Given the description of an element on the screen output the (x, y) to click on. 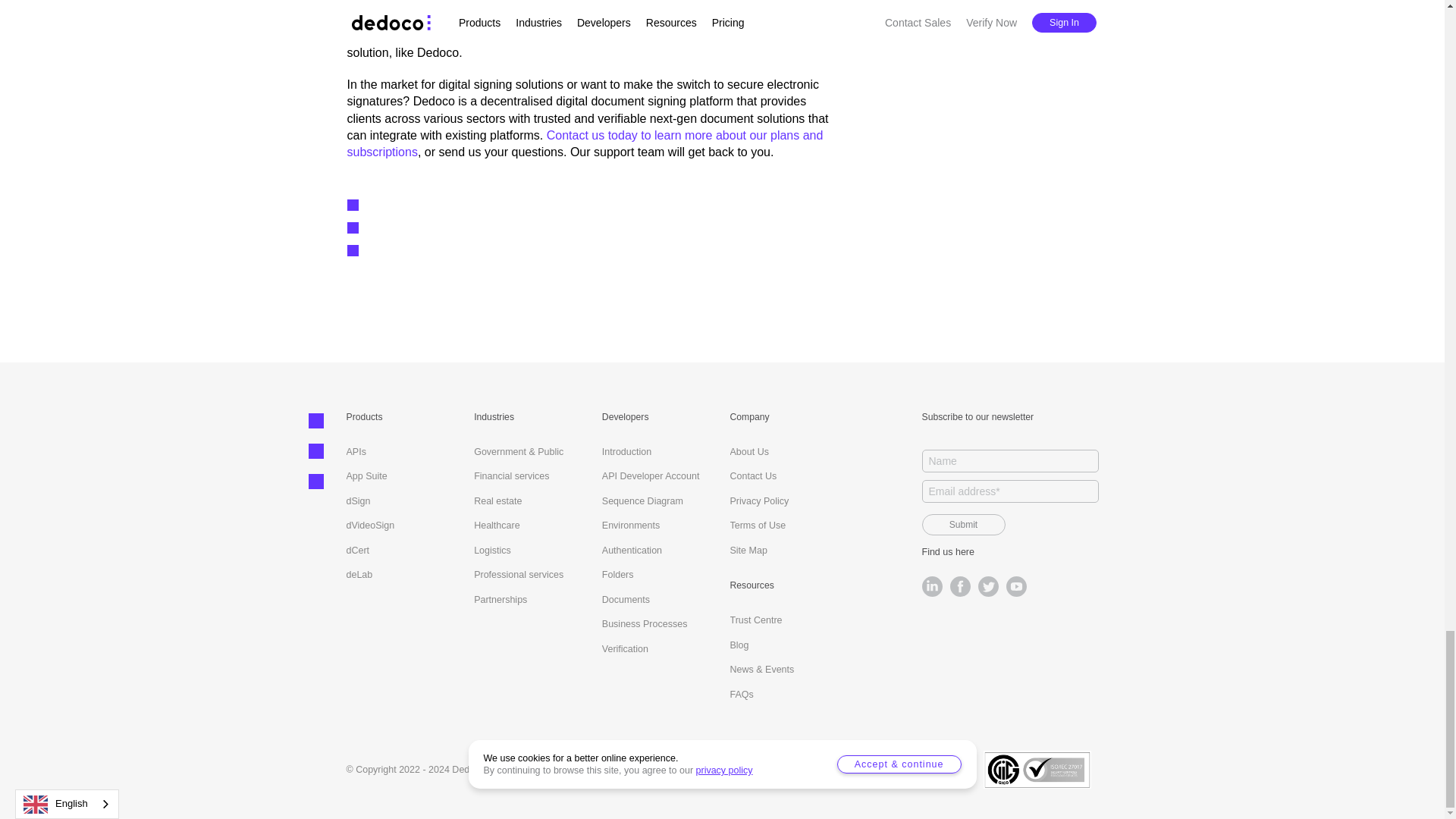
Submit (963, 524)
